Given the description of an element on the screen output the (x, y) to click on. 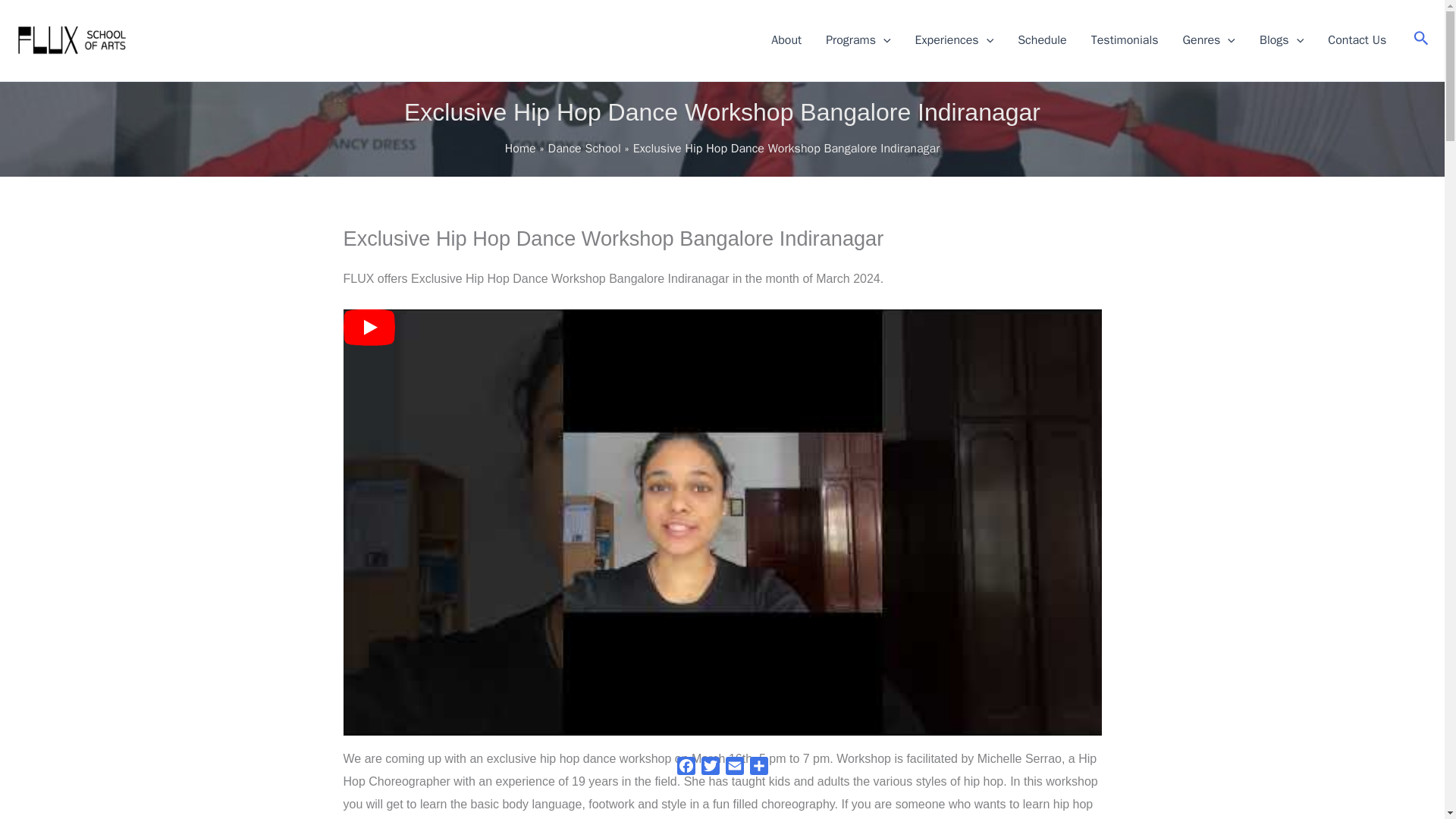
Facebook (684, 765)
About (785, 39)
Testimonials (1124, 39)
Experiences (954, 39)
Twitter (709, 765)
Email (733, 765)
Programs (857, 39)
Blogs (1281, 39)
Genres (1208, 39)
Schedule (1042, 39)
